Given the description of an element on the screen output the (x, y) to click on. 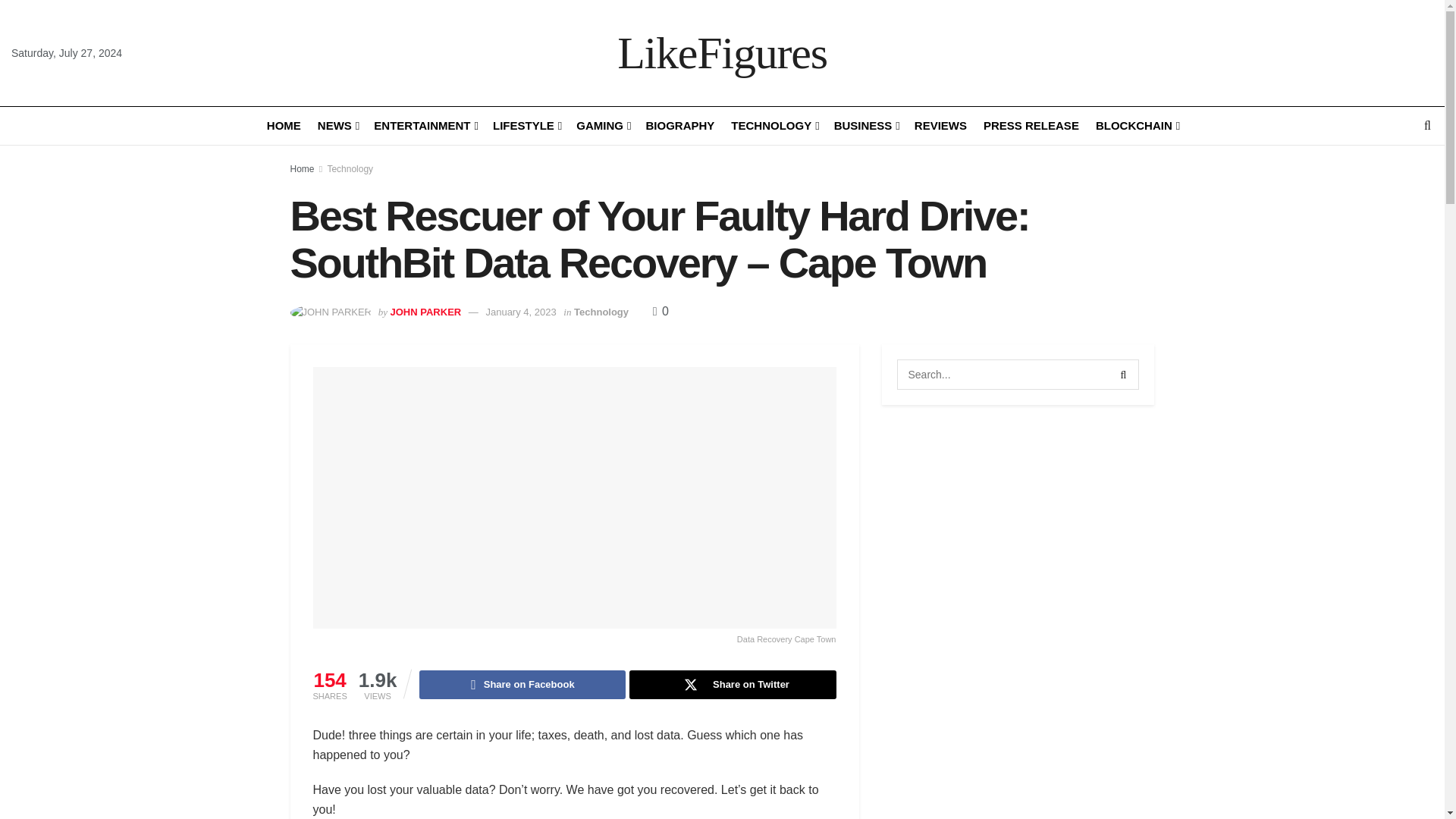
LIFESTYLE (526, 125)
BUSINESS (866, 125)
ENTERTAINMENT (425, 125)
BLOCKCHAIN (1136, 125)
TECHNOLOGY (773, 125)
GAMING (602, 125)
NEWS (336, 125)
BIOGRAPHY (679, 125)
LikeFigures (722, 53)
PRESS RELEASE (1031, 125)
HOME (283, 125)
REVIEWS (940, 125)
